Given the description of an element on the screen output the (x, y) to click on. 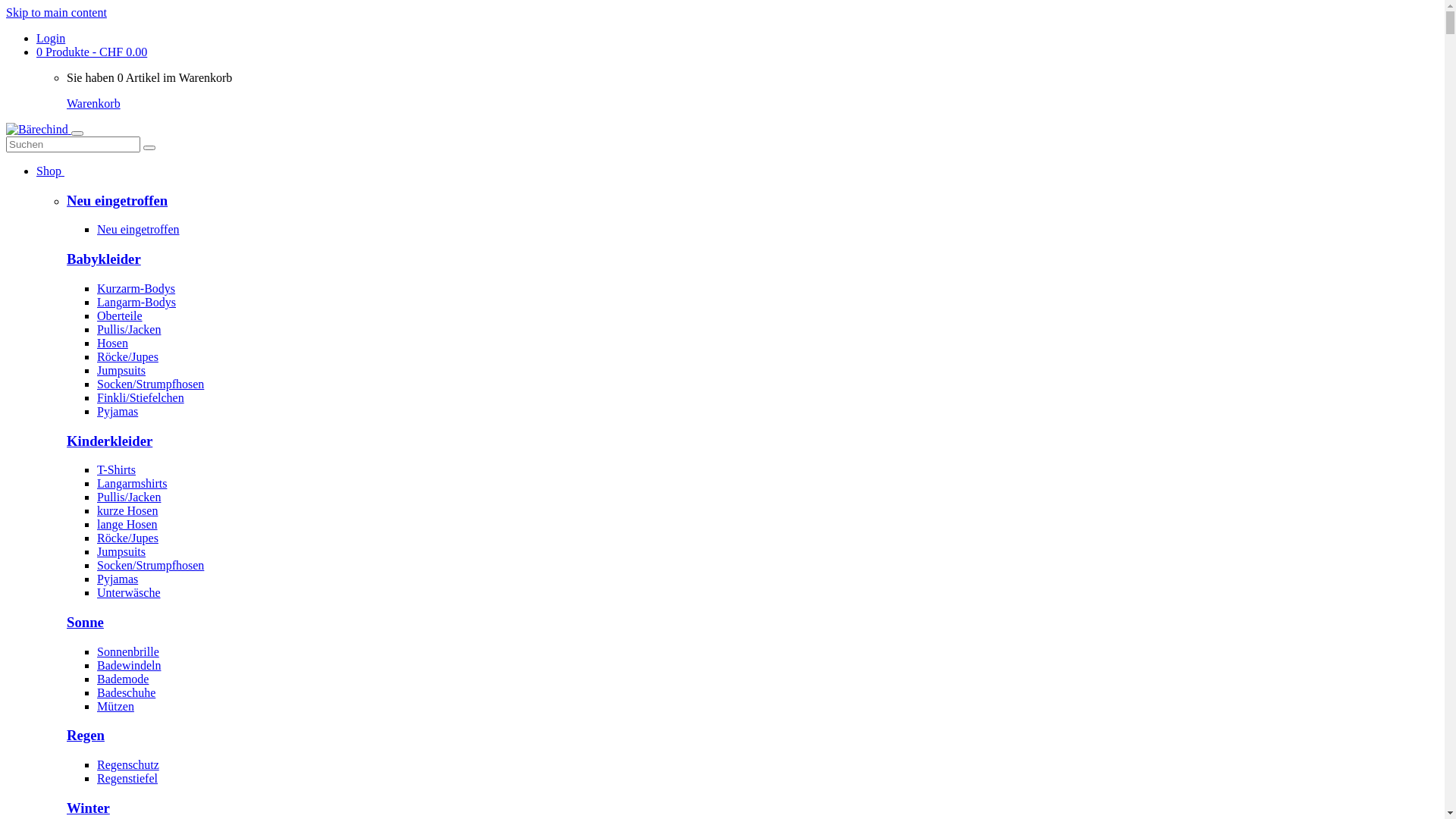
lange Hosen Element type: text (127, 523)
Shop  Element type: text (50, 170)
kurze Hosen Element type: text (127, 510)
Neu eingetroffen Element type: text (138, 228)
Sonnenbrille Element type: text (128, 651)
Pyjamas Element type: text (117, 578)
Neu eingetroffen Element type: text (116, 200)
Kinderkleider Element type: text (109, 440)
Badeschuhe Element type: text (126, 692)
Jumpsuits Element type: text (121, 370)
Regen Element type: text (85, 735)
Regenschutz Element type: text (128, 764)
Sonne Element type: text (84, 622)
Finkli/Stiefelchen Element type: text (140, 397)
Pyjamas Element type: text (117, 410)
Langarmshirts Element type: text (131, 482)
Regenstiefel Element type: text (127, 777)
Bademode Element type: text (122, 678)
Pullis/Jacken Element type: text (128, 329)
T-Shirts Element type: text (116, 469)
Jumpsuits Element type: text (121, 551)
Skip to main content Element type: text (56, 12)
Login Element type: text (50, 37)
Pullis/Jacken Element type: text (128, 496)
0 Produkte - CHF 0.00 Element type: text (91, 51)
Warenkorb Element type: text (93, 103)
Hosen Element type: text (112, 342)
Badewindeln Element type: text (128, 664)
Socken/Strumpfhosen Element type: text (150, 564)
Kurzarm-Bodys Element type: text (136, 288)
Socken/Strumpfhosen Element type: text (150, 383)
Babykleider Element type: text (103, 258)
Langarm-Bodys Element type: text (136, 301)
Winter Element type: text (87, 807)
Oberteile Element type: text (119, 315)
